Given the description of an element on the screen output the (x, y) to click on. 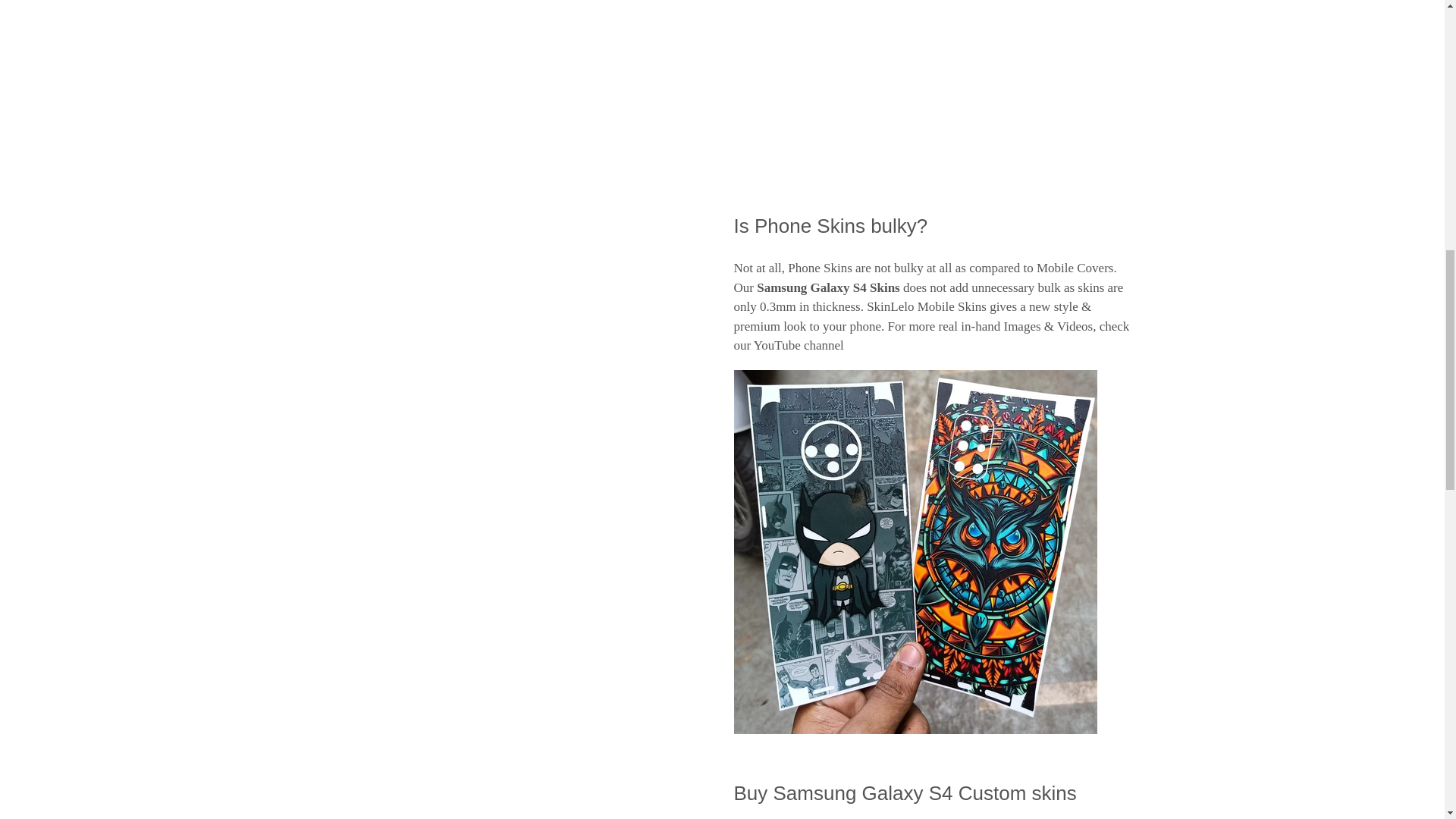
SkinLelo Mobile Skin Review (799, 345)
YouTube video player (934, 85)
YouTube channel (799, 345)
